Given the description of an element on the screen output the (x, y) to click on. 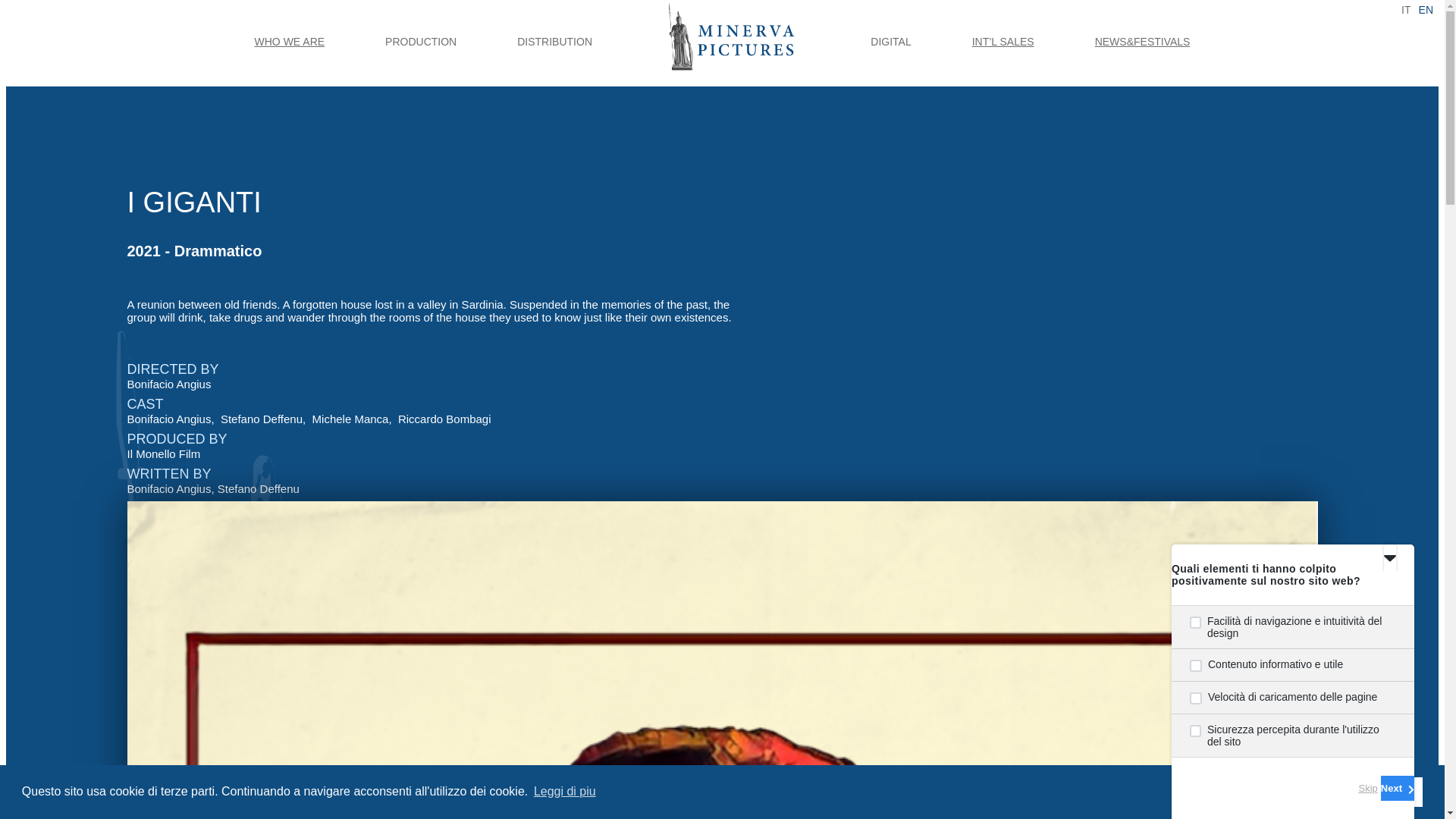
OK (1404, 791)
DIGITAL (890, 41)
DISTRIBUTION (554, 41)
Leggi di piu (564, 791)
IT (1405, 9)
PRODUCTION (420, 41)
WHO WE ARE (289, 41)
